Given the description of an element on the screen output the (x, y) to click on. 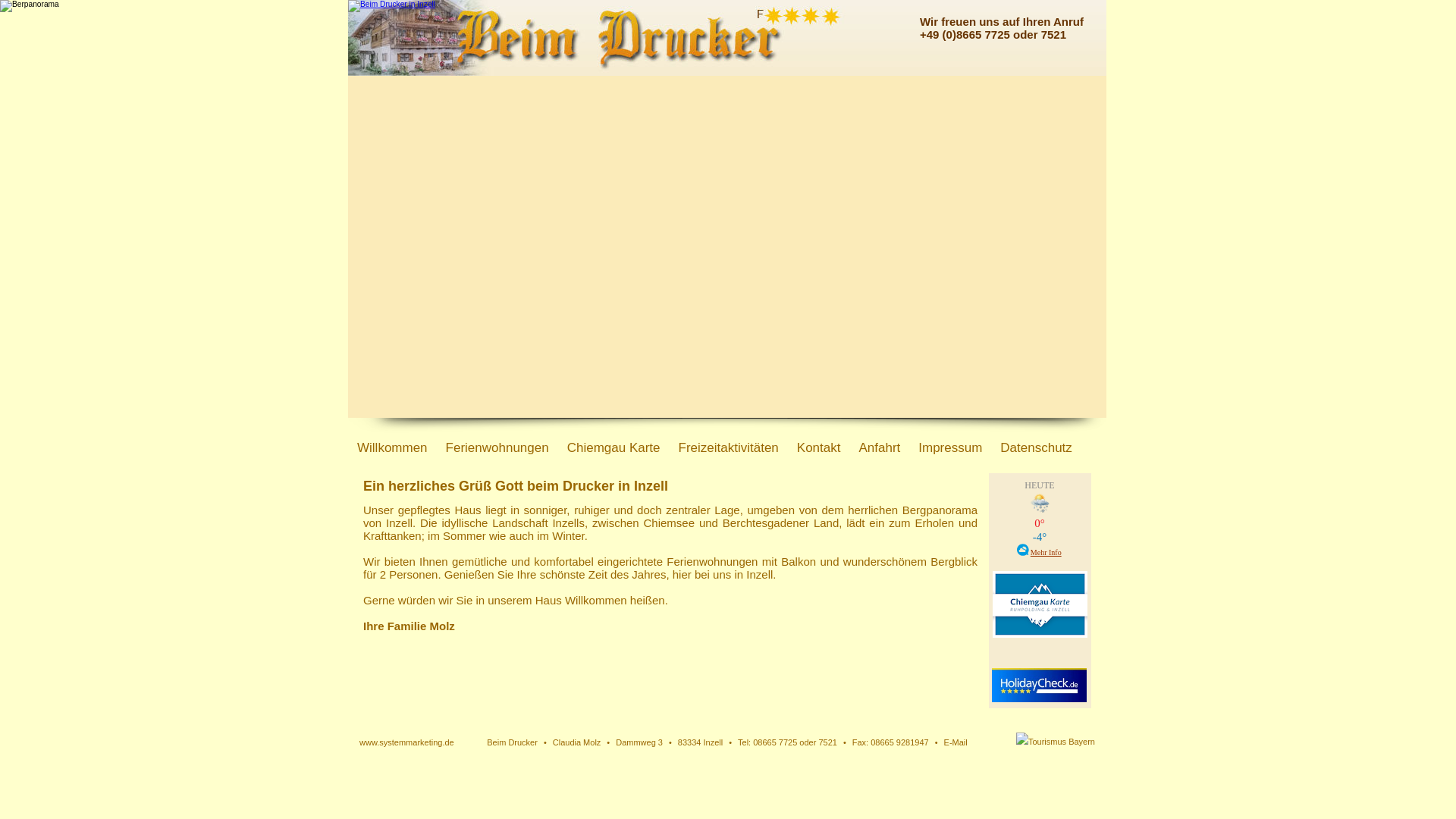
Chiemgau Karte Element type: text (613, 448)
Datenschutz Element type: text (1036, 448)
www.systemmarketing.de Element type: text (406, 741)
Ferienwohnungen Element type: text (497, 448)
Zu Tourismus Bayern Element type: hover (1055, 741)
Impressum Element type: text (950, 448)
E-Mail Element type: text (955, 741)
Infos zur Chiemgau Karte Element type: hover (1039, 634)
Kontakt Element type: text (818, 448)
Anfahrt Element type: text (879, 448)
Willkommen Element type: text (392, 448)
